Given the description of an element on the screen output the (x, y) to click on. 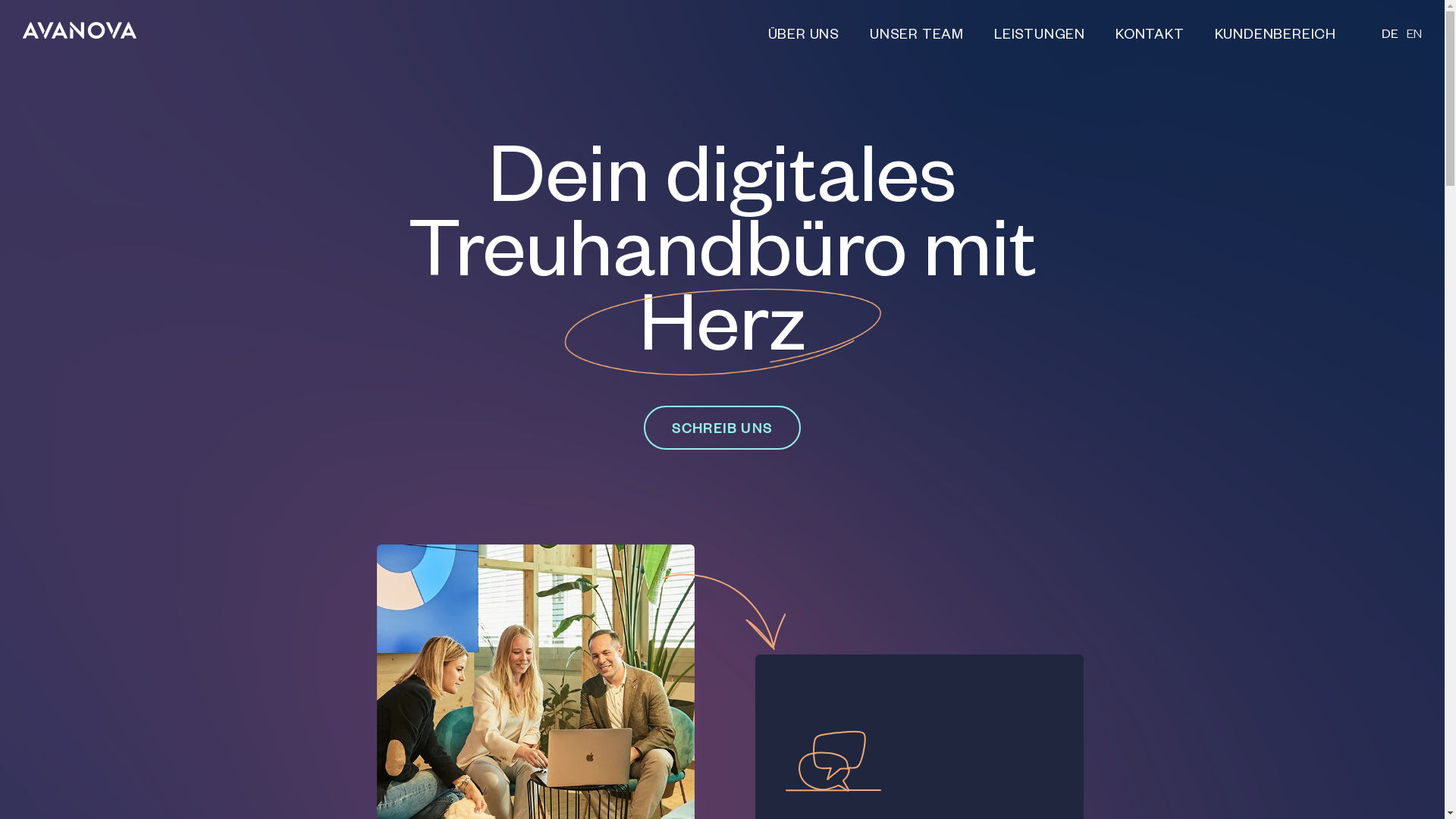
UNSER TEAM Element type: text (916, 35)
DE Element type: text (1389, 37)
LEISTUNGEN Element type: text (1039, 35)
KONTAKT Element type: text (1149, 35)
EN Element type: text (1413, 37)
SCHREIB UNS Element type: text (721, 427)
KUNDENBEREICH Element type: text (1282, 35)
